Given the description of an element on the screen output the (x, y) to click on. 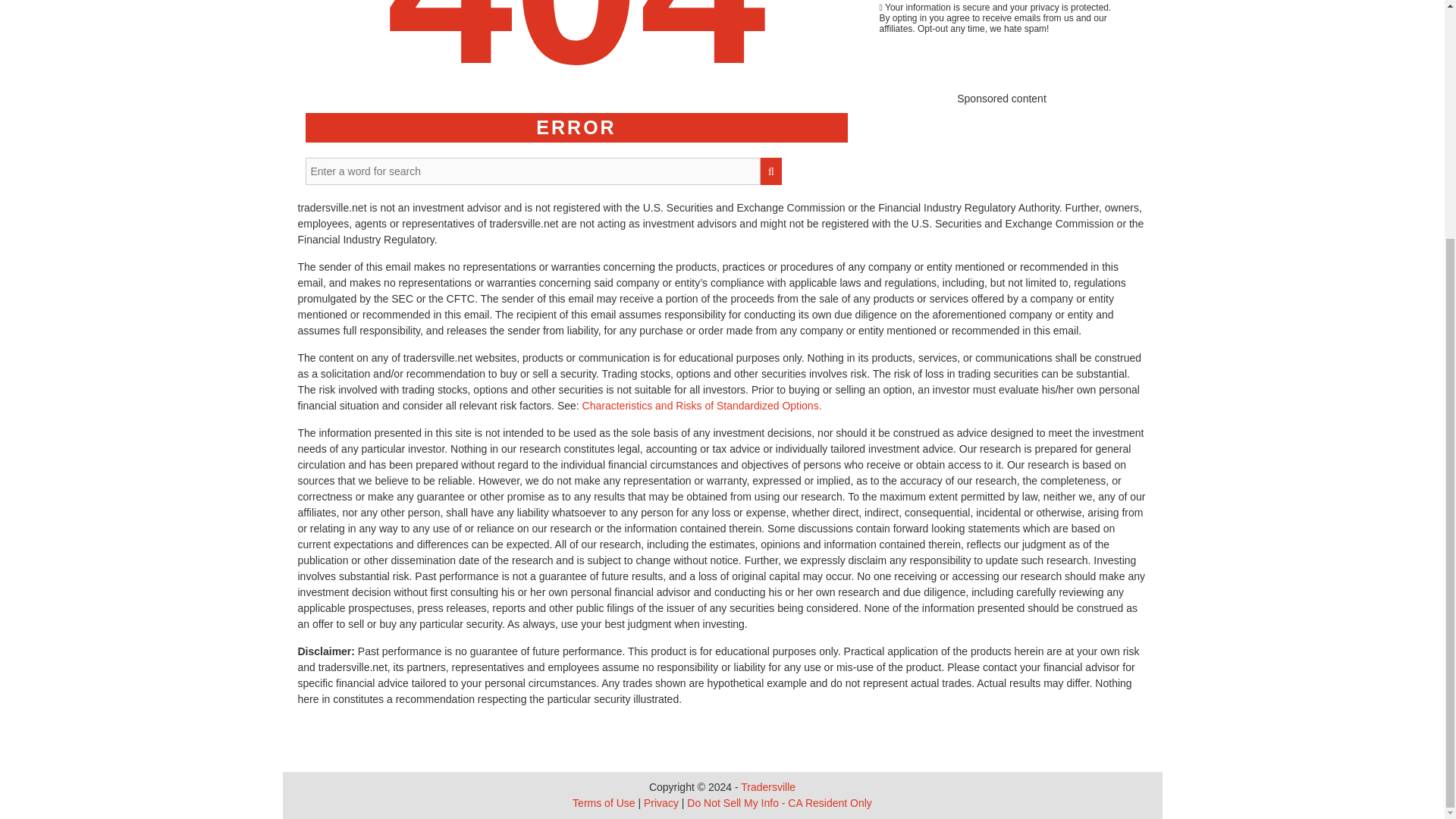
Terms of Use (603, 802)
Characteristics and Risks of Standardized Options. (702, 405)
Tradersville (767, 787)
Privacy (660, 802)
Do Not Sell My Info - CA Resident Only (779, 802)
